Given the description of an element on the screen output the (x, y) to click on. 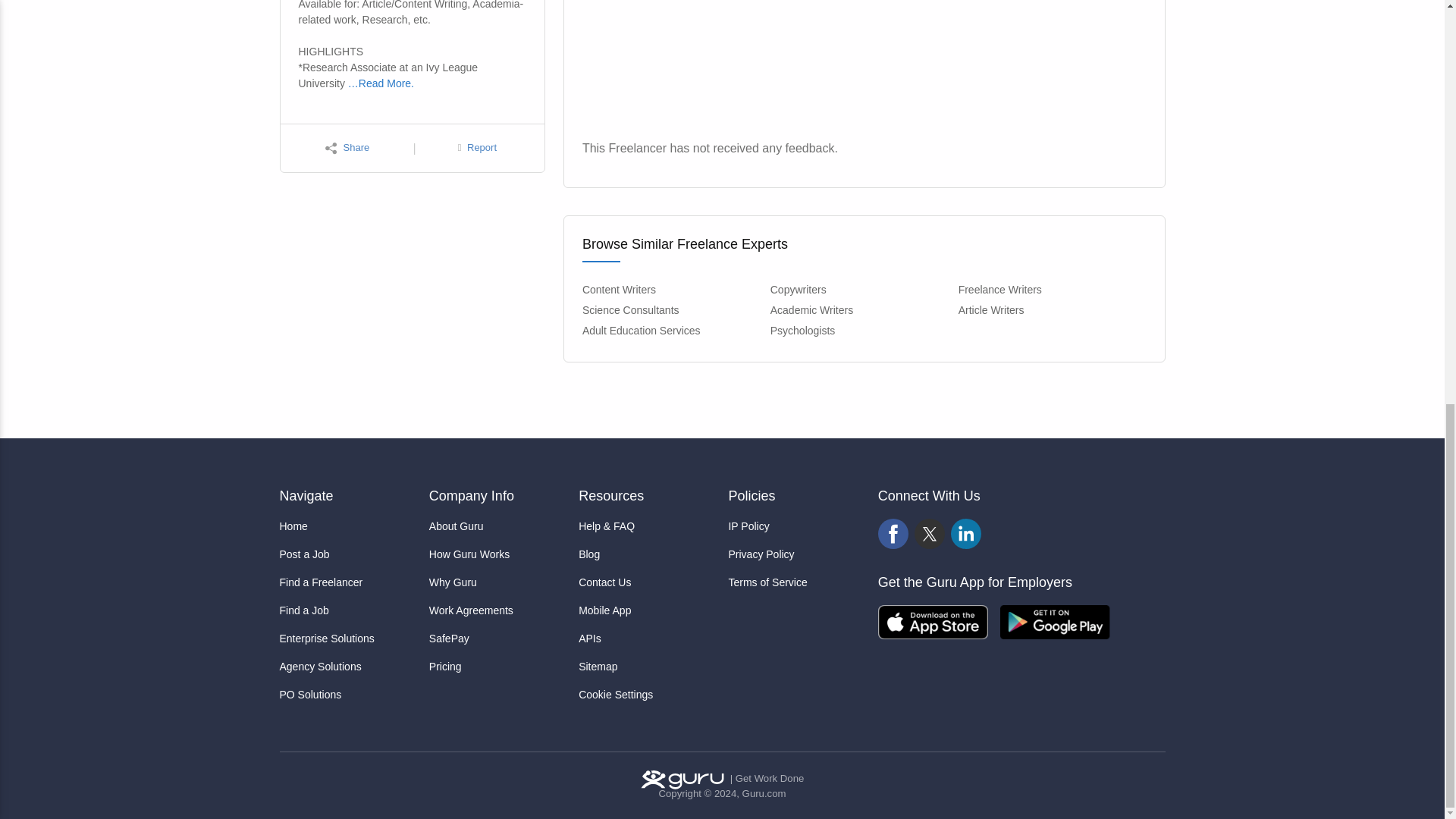
Report (477, 147)
Connect with Guru on Facebook (893, 533)
Connect with Guru on X (929, 533)
Find a Freelancer (347, 582)
Share (347, 147)
Connect with Guru on LinkedIn (965, 533)
Post a Job (347, 554)
Home (347, 526)
